Given the description of an element on the screen output the (x, y) to click on. 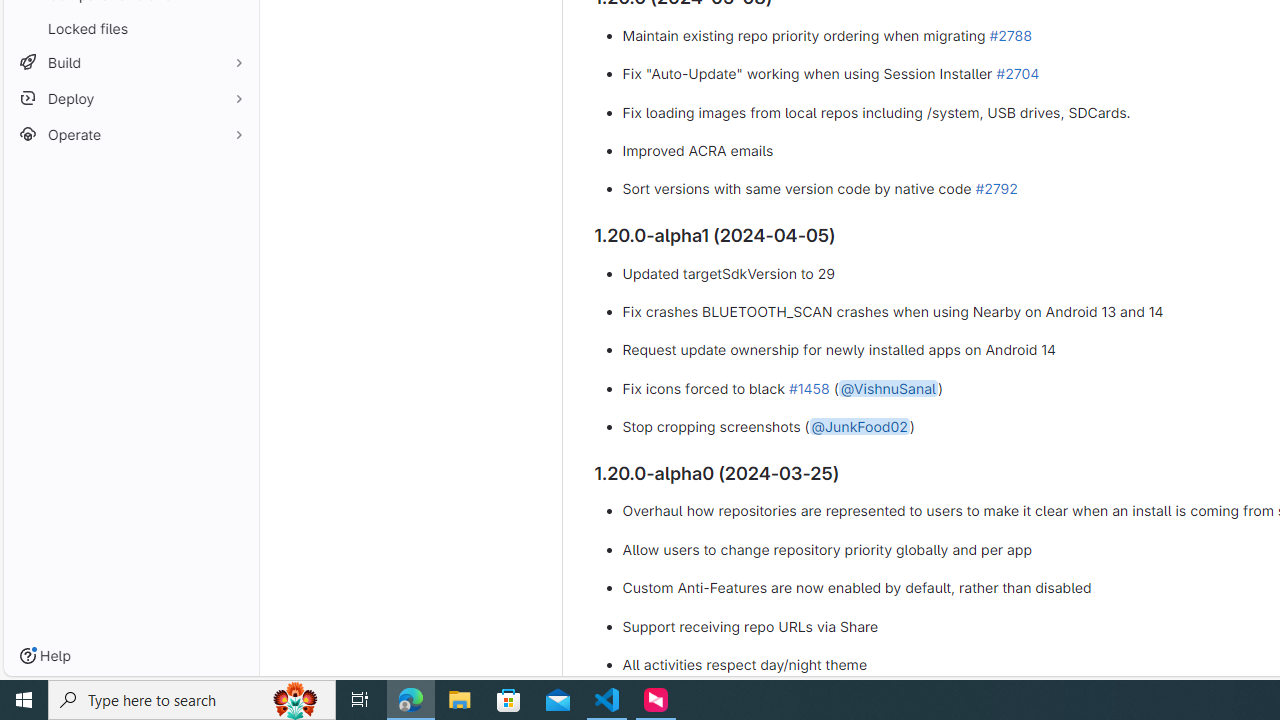
Help (45, 655)
Microsoft Store (509, 699)
#2788 (1010, 34)
Locked files (130, 28)
#2792 (996, 189)
Search highlights icon opens search home window (295, 699)
Build (130, 62)
Deploy (130, 98)
Pin Locked files (234, 28)
File Explorer (460, 699)
